Given the description of an element on the screen output the (x, y) to click on. 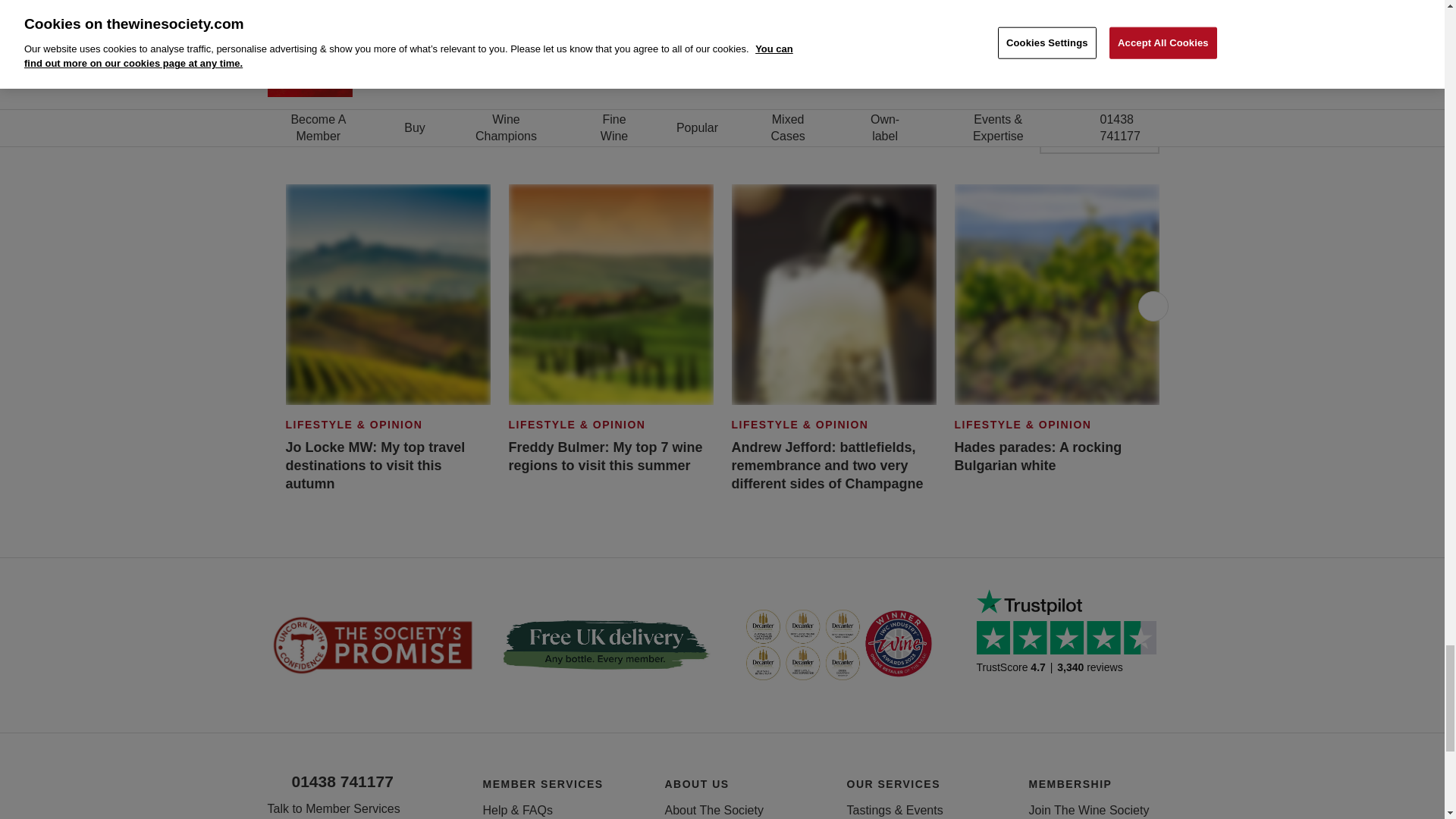
Customer reviews powered by Trustpilot (1071, 644)
